Given the description of an element on the screen output the (x, y) to click on. 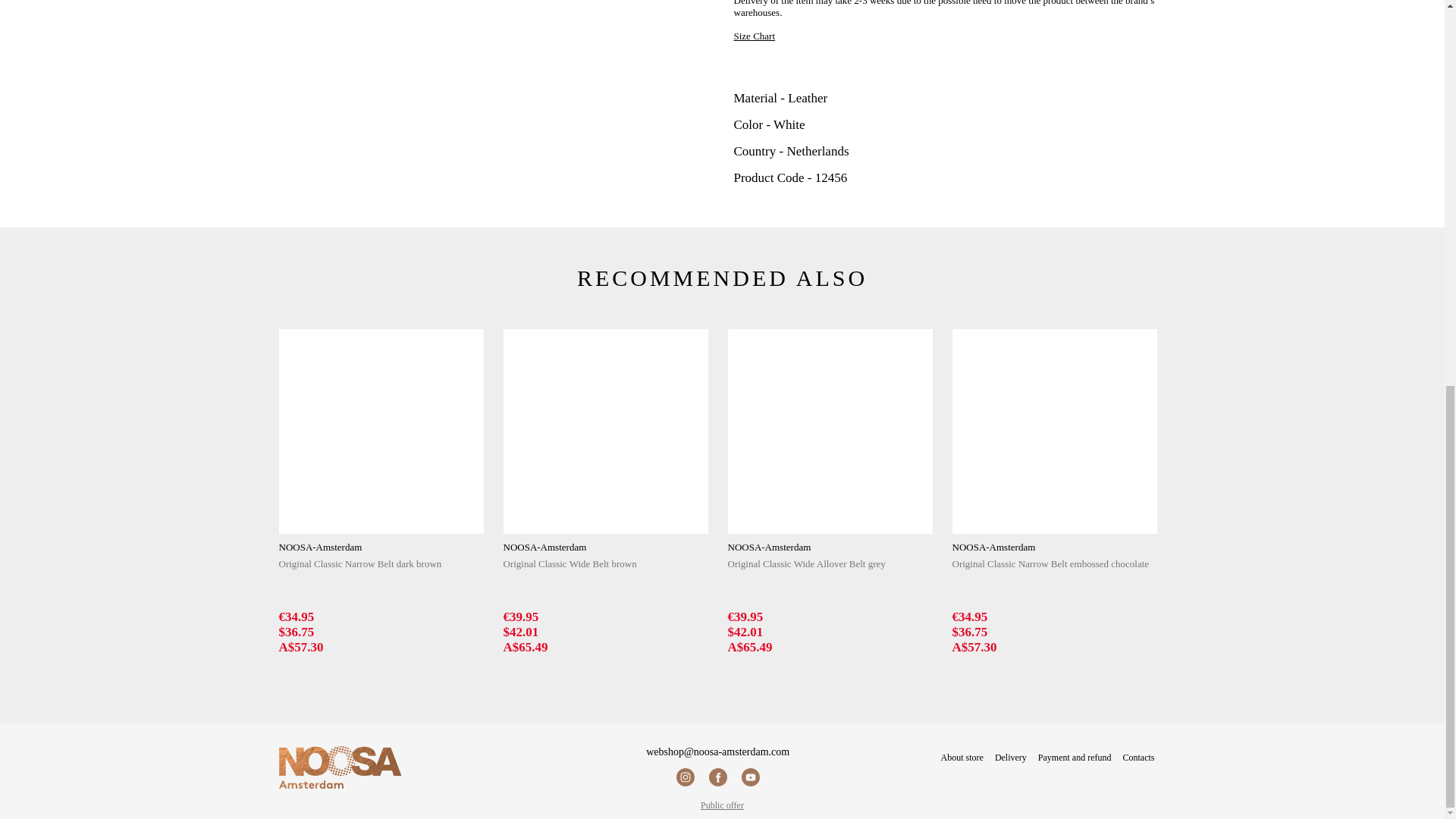
Original Classic Wide Belt brown (605, 431)
Original Classic Narrow Belt dark brown (381, 431)
Original Classic Wide Allover Belt grey (830, 431)
Original Classic Narrow Belt embossed chocolate (1054, 431)
